Given the description of an element on the screen output the (x, y) to click on. 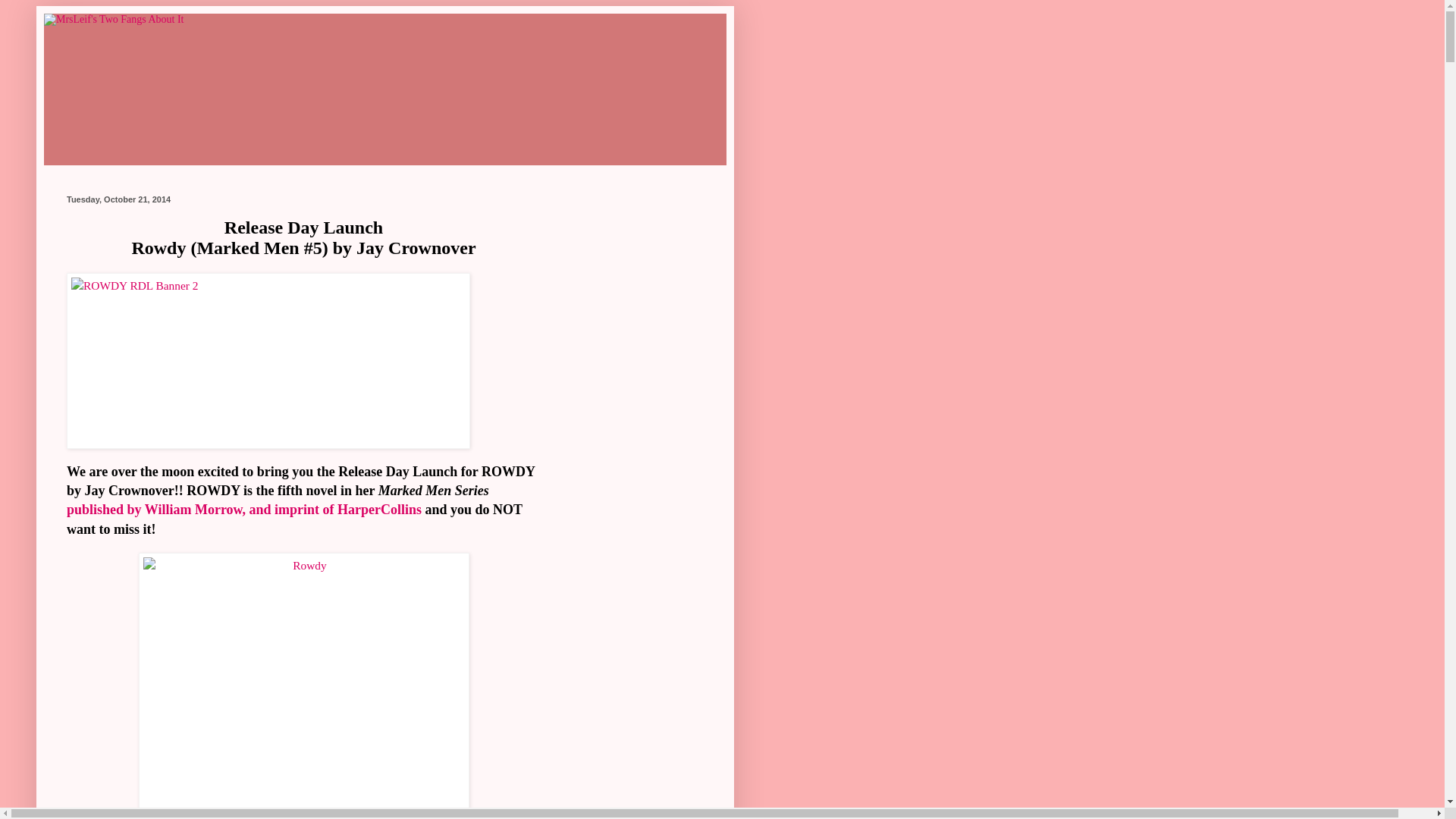
published by William Morrow, and imprint of HarperCollins (244, 509)
